Given the description of an element on the screen output the (x, y) to click on. 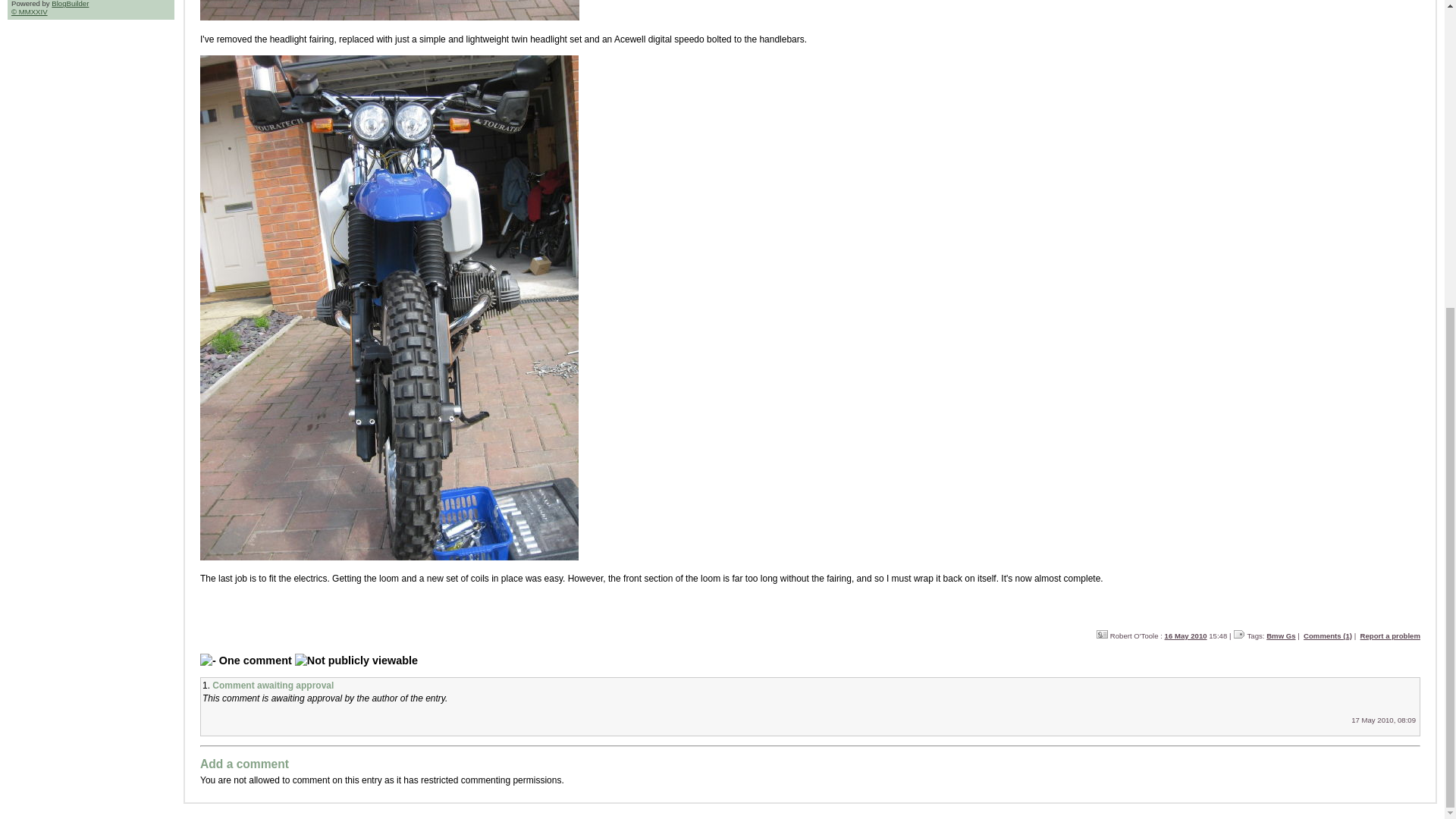
Copyright and privacy statement (29, 11)
BlogBuilder (69, 3)
BlogBuilder home page (69, 3)
Bmw Gs (1280, 635)
Read all entries written on this date (1185, 635)
Staff: Arts Faculty Office (1102, 633)
Only commentable by: Author (356, 660)
Comment by a non-logged in user (810, 706)
Read or add comments (1327, 635)
